Given the description of an element on the screen output the (x, y) to click on. 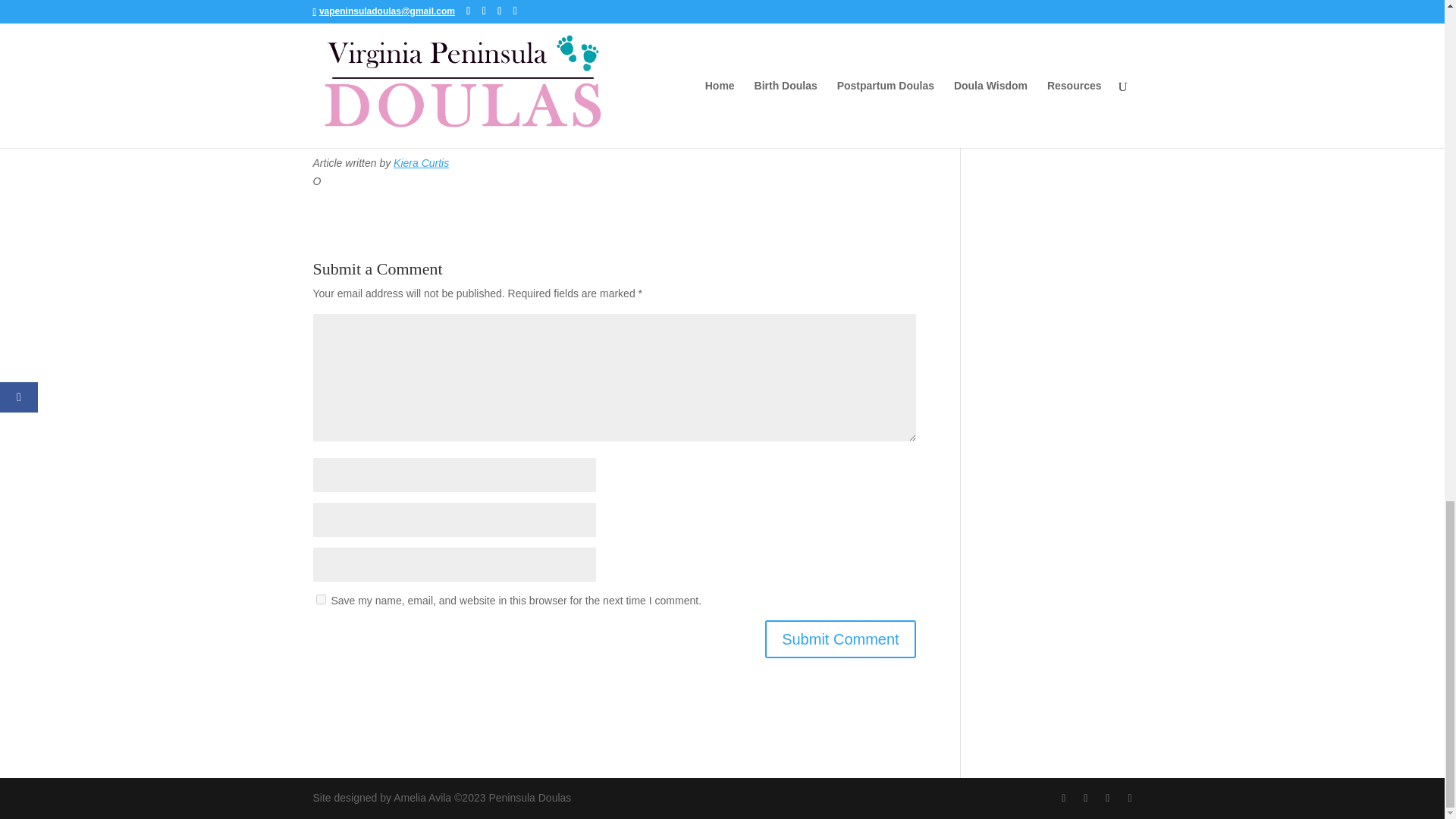
Submit Comment (840, 638)
Submit Comment (840, 638)
yes (319, 599)
Kiera Curtis (420, 162)
